Given the description of an element on the screen output the (x, y) to click on. 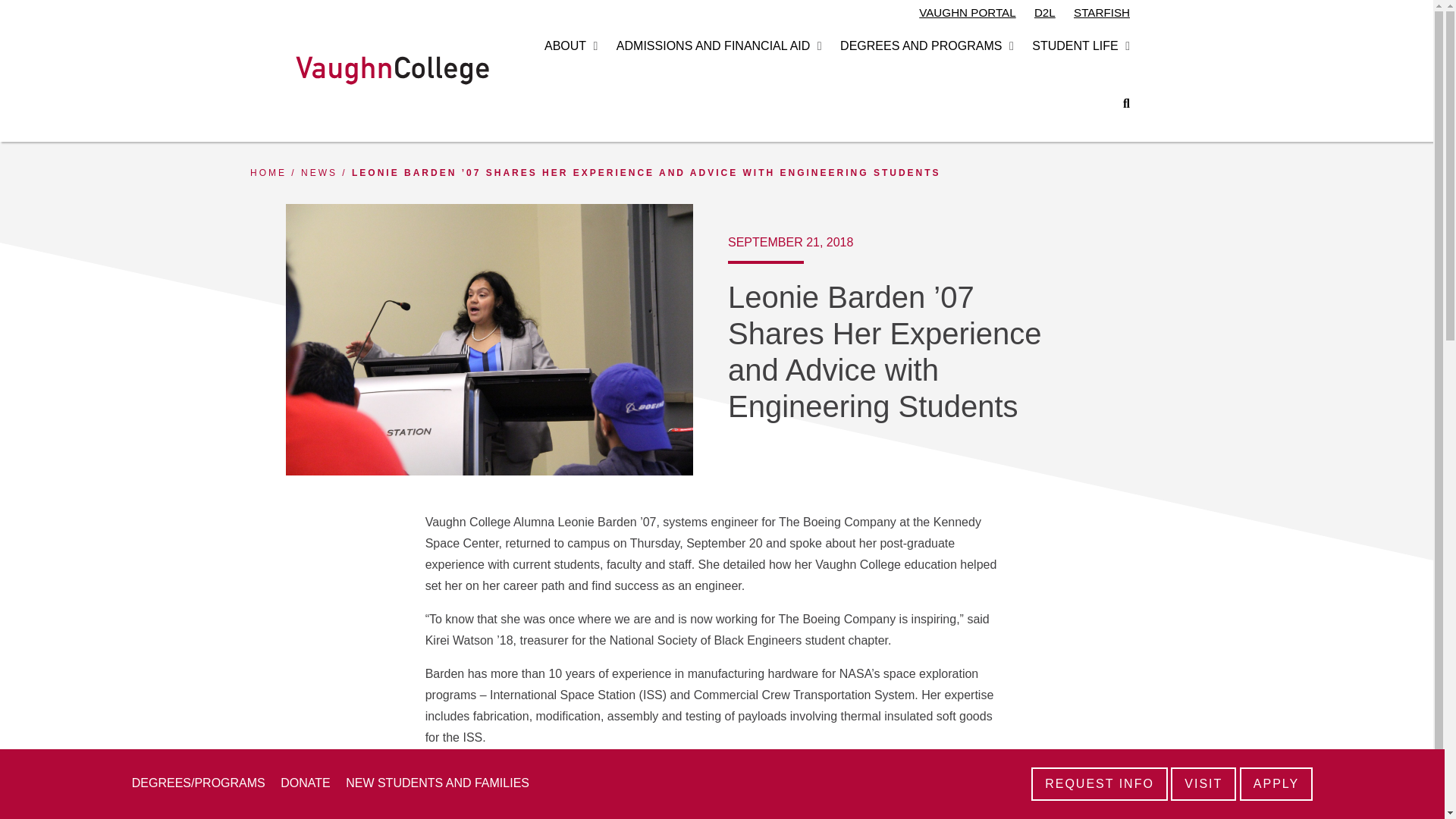
VAUGHN PORTAL (966, 14)
STARFISH (1101, 14)
DEGREES AND PROGRAMS (920, 46)
ADMISSIONS AND FINANCIAL AID (712, 46)
ABOUT (565, 46)
D2L (1044, 14)
